Given the description of an element on the screen output the (x, y) to click on. 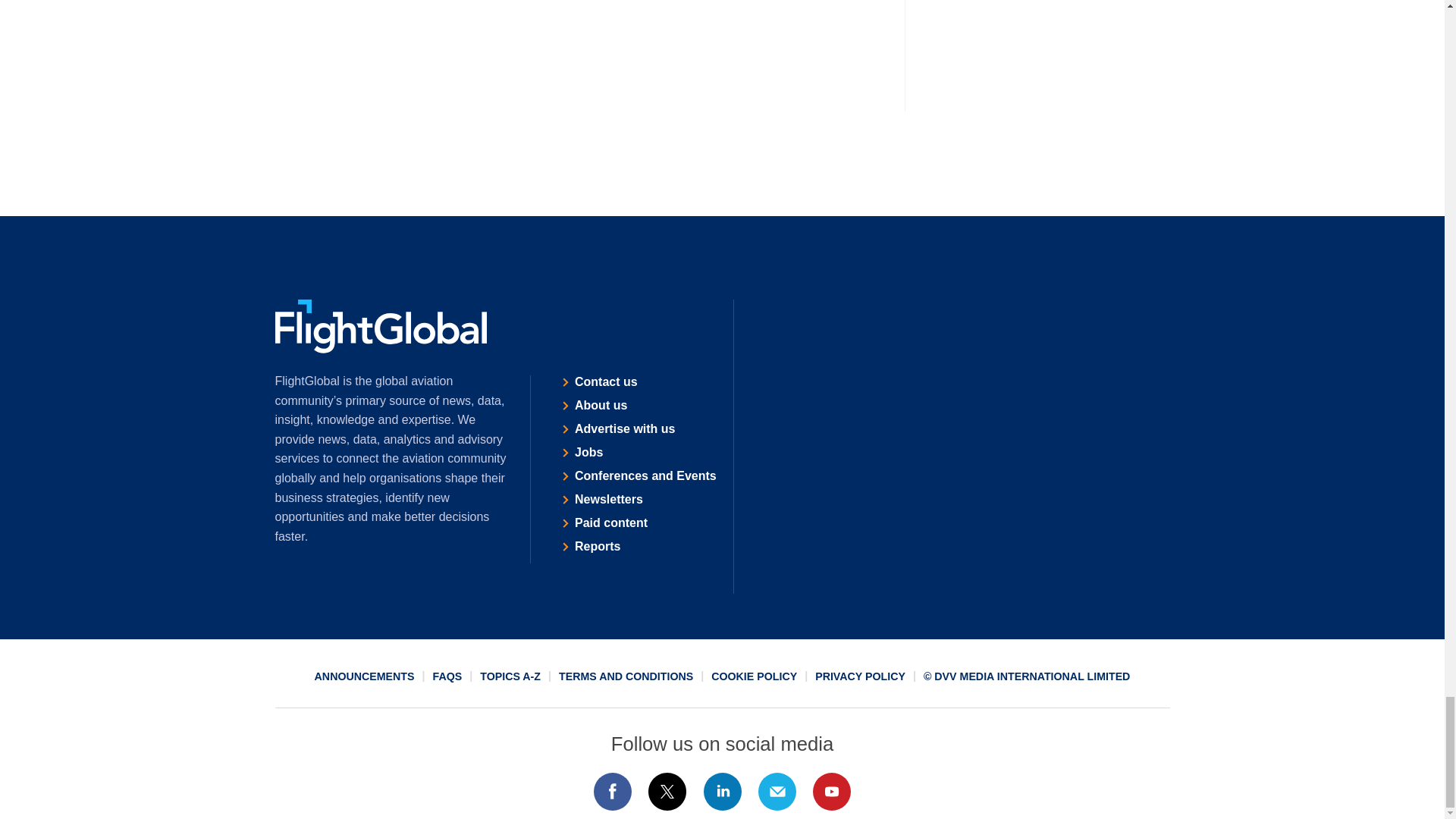
Connect with us on Linked In (721, 791)
Connect with us on Facebook (611, 791)
Email us (776, 791)
Connect with us on Twitter (667, 791)
Connect with us on Youtube (831, 791)
